Given the description of an element on the screen output the (x, y) to click on. 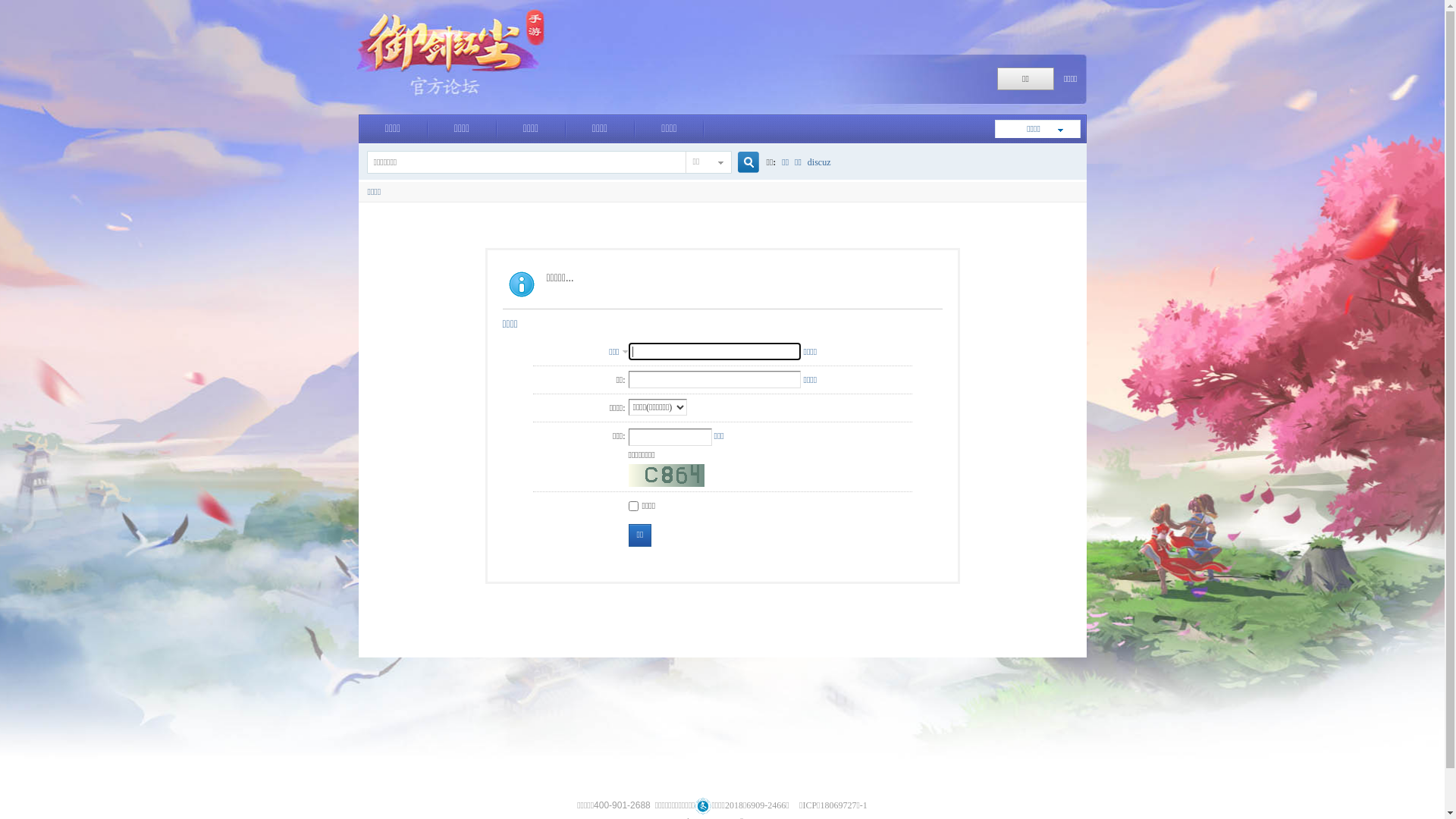
discuz Element type: text (819, 162)
